Given the description of an element on the screen output the (x, y) to click on. 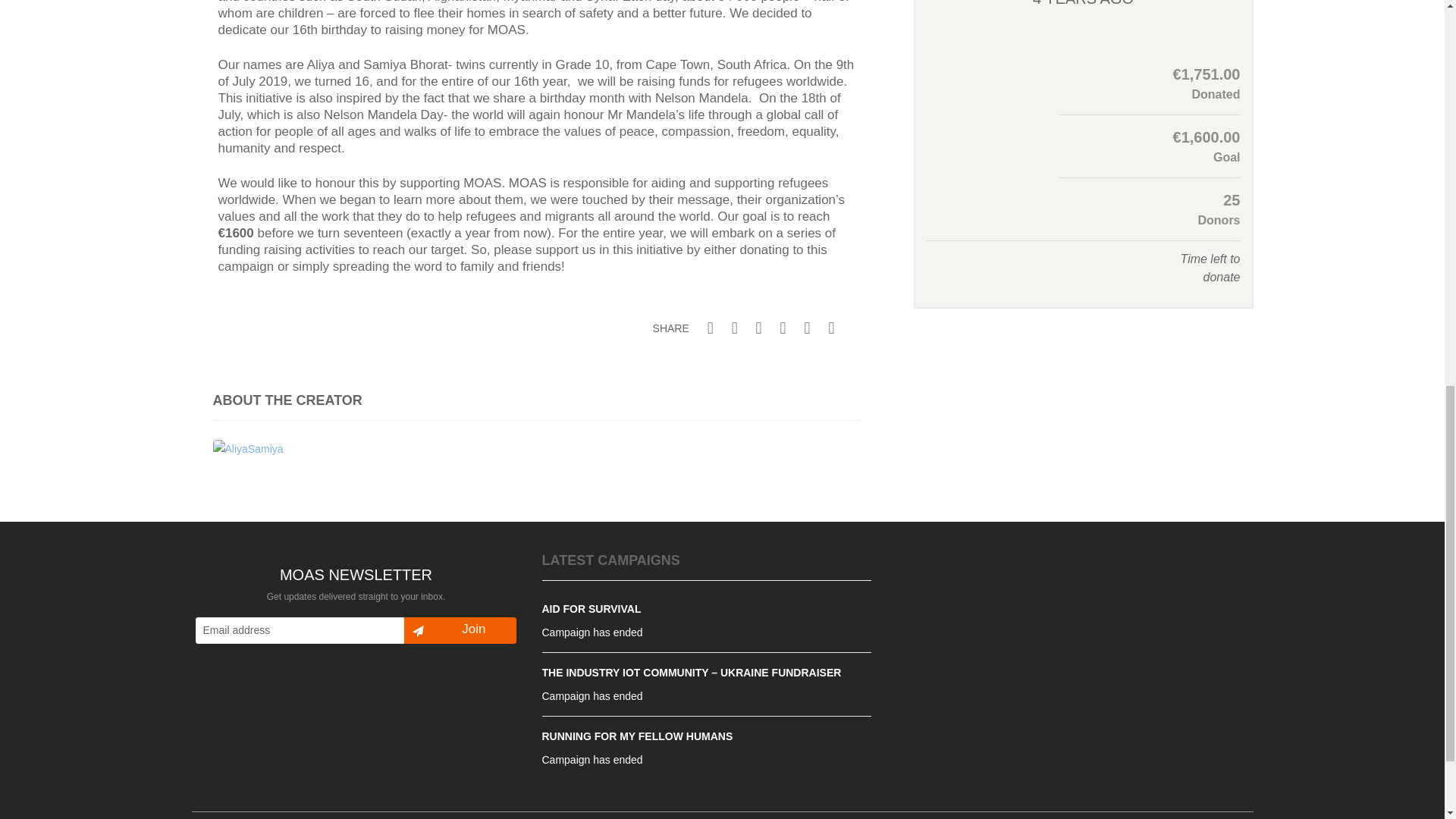
AID FOR SURVIVAL (590, 608)
RUNNING FOR MY FELLOW HUMANS (636, 736)
